Given the description of an element on the screen output the (x, y) to click on. 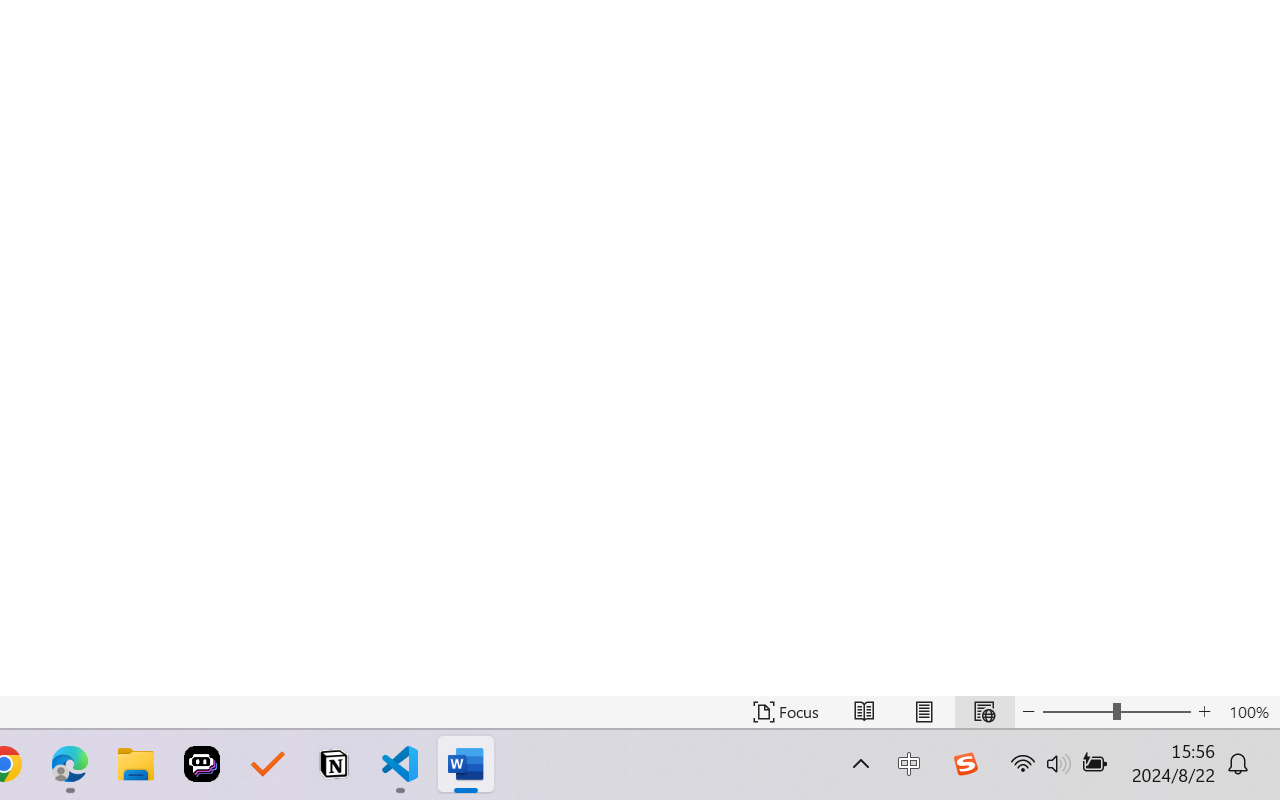
Zoom (1116, 712)
Web Layout (984, 712)
Print Layout (924, 712)
Class: Image (965, 764)
Focus  (786, 712)
Zoom Out (1077, 712)
Zoom In (1204, 712)
Read Mode (864, 712)
Zoom 100% (1249, 712)
